Given the description of an element on the screen output the (x, y) to click on. 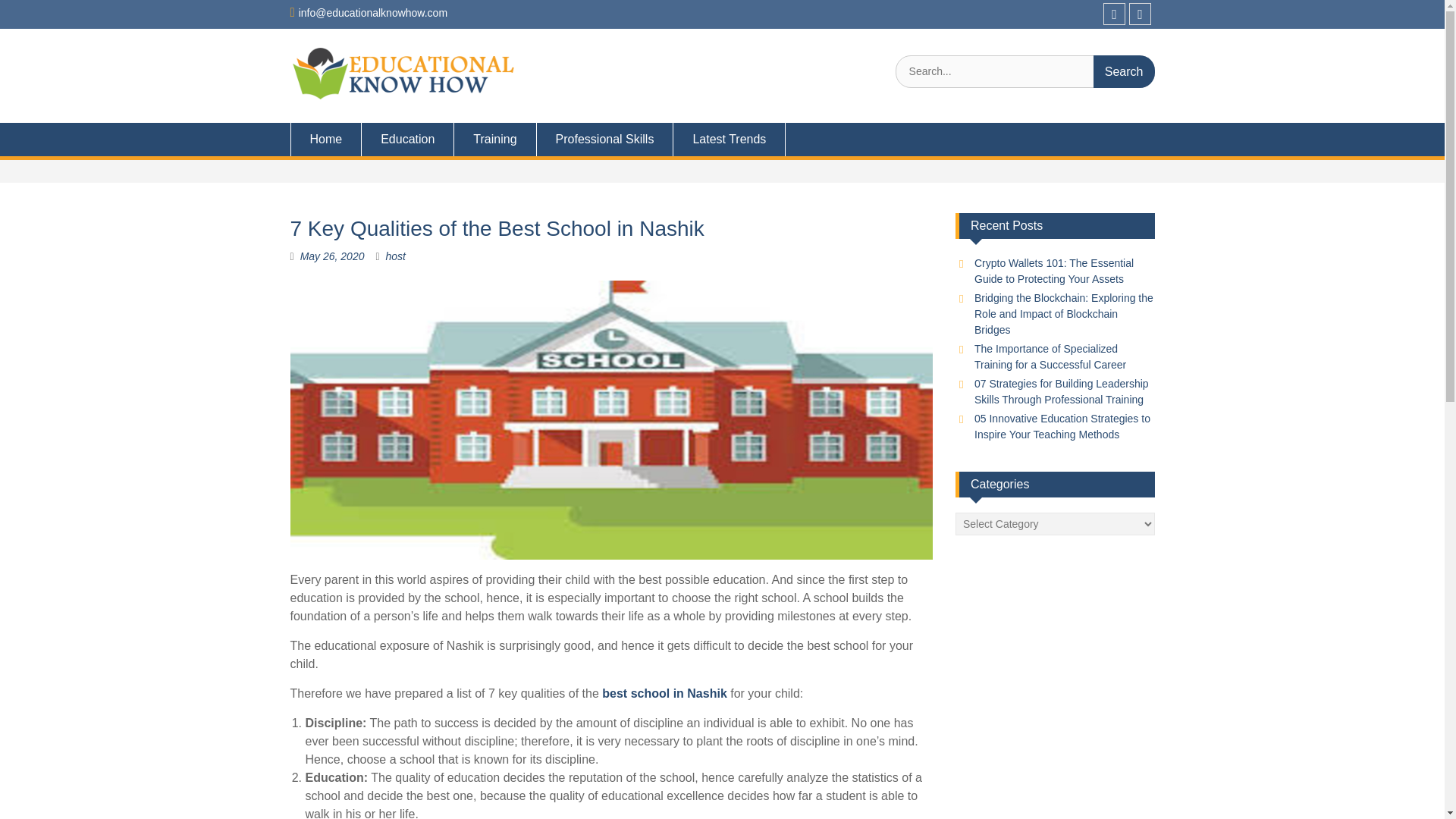
Search (1123, 71)
Latest Trends (729, 139)
Home (325, 139)
May 26, 2020 (332, 256)
host (394, 256)
Training (494, 139)
Education (407, 139)
Twitter (1140, 14)
